Given the description of an element on the screen output the (x, y) to click on. 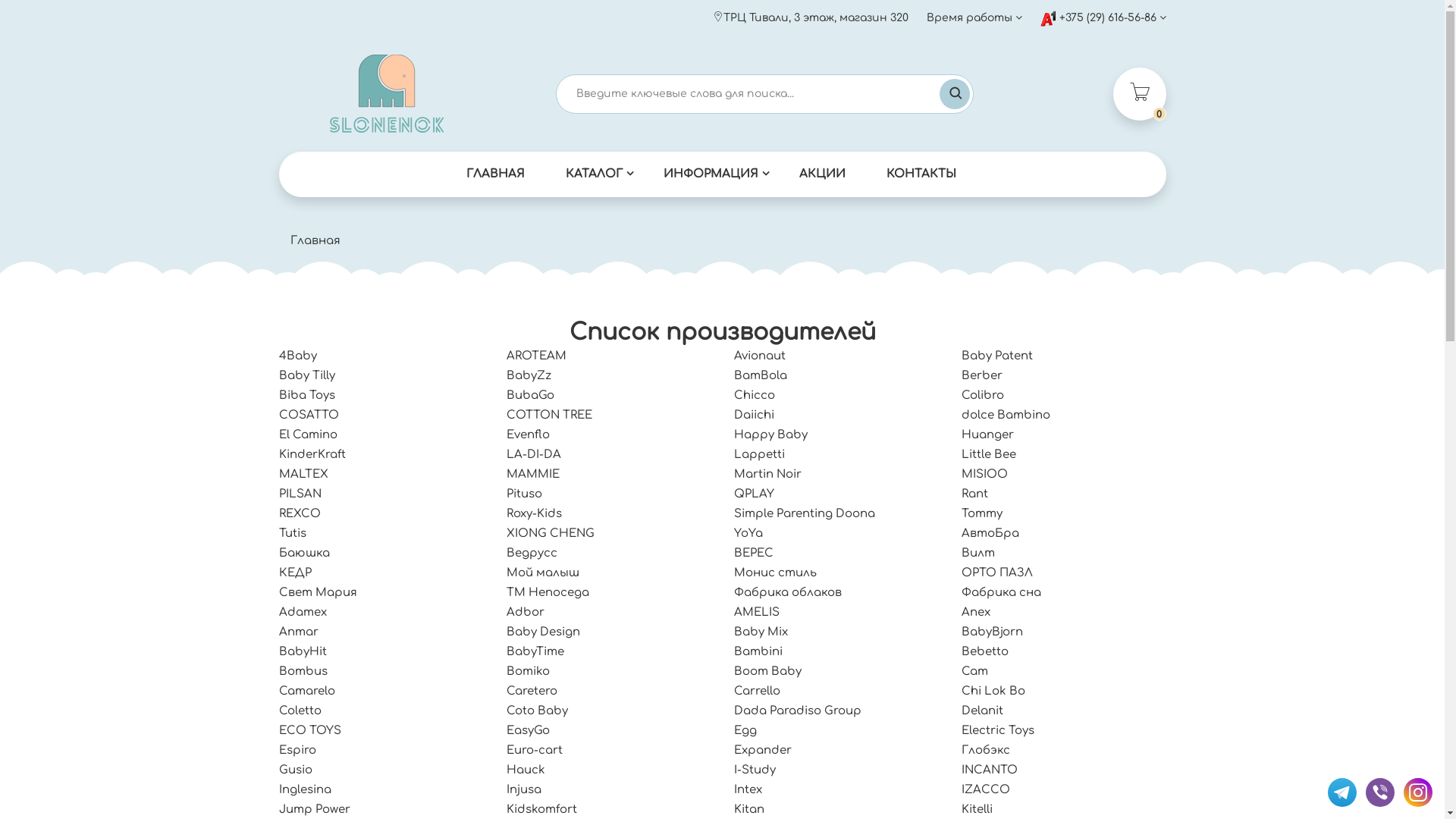
Dada Paradiso Group Element type: text (797, 710)
Biba Toys Element type: text (307, 395)
LA-DI-DA Element type: text (533, 454)
INCANTO Element type: text (989, 769)
Intex Element type: text (748, 789)
Kitan Element type: text (749, 809)
Adbor Element type: text (525, 611)
Happy Baby Element type: text (770, 434)
Anex Element type: text (975, 611)
I-Study Element type: text (754, 769)
Carrello Element type: text (757, 690)
Expander Element type: text (762, 749)
Inglesina Element type: text (305, 789)
BabyZz Element type: text (528, 375)
MAMMIE Element type: text (532, 473)
Roxy-Kids Element type: text (533, 513)
Pituso Element type: text (524, 493)
Gusio Element type: text (295, 769)
KinderKraft Element type: text (312, 454)
Caretero Element type: text (531, 690)
Bomiko Element type: text (527, 671)
Bombus Element type: text (303, 671)
BamBola Element type: text (760, 375)
Baby Tilly Element type: text (307, 375)
Espiro Element type: text (297, 749)
BabyHit Element type: text (302, 651)
COTTON TREE Element type: text (549, 414)
+375 (29) 616-56-86 Element type: text (1103, 17)
Tutis Element type: text (292, 533)
AROTEAM Element type: text (536, 355)
Daiichi Element type: text (754, 414)
COSATTO Element type: text (308, 414)
Avionaut Element type: text (759, 355)
Rant Element type: text (974, 493)
Euro-cart Element type: text (534, 749)
Lappetti Element type: text (759, 454)
Bebetto Element type: text (984, 651)
Electric Toys Element type: text (997, 730)
Injusa Element type: text (523, 789)
Delanit Element type: text (982, 710)
Cam Element type: text (974, 671)
Hauck Element type: text (525, 769)
4Baby Element type: text (297, 355)
Tommy Element type: text (981, 513)
BubaGo Element type: text (530, 395)
Bambini Element type: text (758, 651)
Baby Design Element type: text (543, 631)
BabyBjorn Element type: text (991, 631)
Evenflo Element type: text (527, 434)
BabyTime Element type: text (535, 651)
Coletto Element type: text (300, 710)
Little Bee Element type: text (988, 454)
0 Element type: text (1139, 93)
Coto Baby Element type: text (536, 710)
Jump Power Element type: text (314, 809)
Boom Baby Element type: text (767, 671)
Kitelli Element type: text (976, 809)
YoYa Element type: text (748, 533)
EasyGo Element type: text (527, 730)
dolce Bambino Element type: text (1005, 414)
Camarelo Element type: text (307, 690)
Colibro Element type: text (982, 395)
Baby Mix Element type: text (760, 631)
ECO TOYS Element type: text (310, 730)
Chicco Element type: text (754, 395)
Egg Element type: text (745, 730)
AMELIS Element type: text (756, 611)
Martin Noir Element type: text (767, 473)
Baby Patent Element type: text (996, 355)
XIONG CHENG Element type: text (550, 533)
MISIOO Element type: text (984, 473)
Huanger Element type: text (987, 434)
QPLAY Element type: text (754, 493)
Simple Parenting Doona Element type: text (804, 513)
Adamex Element type: text (302, 611)
Kidskomfort Element type: text (541, 809)
MALTEX Element type: text (303, 473)
PILSAN Element type: text (300, 493)
REXCO Element type: text (299, 513)
Anmar Element type: text (298, 631)
Chi Lok Bo Element type: text (993, 690)
Berber Element type: text (981, 375)
El Camino Element type: text (308, 434)
IZACCO Element type: text (985, 789)
